Given the description of an element on the screen output the (x, y) to click on. 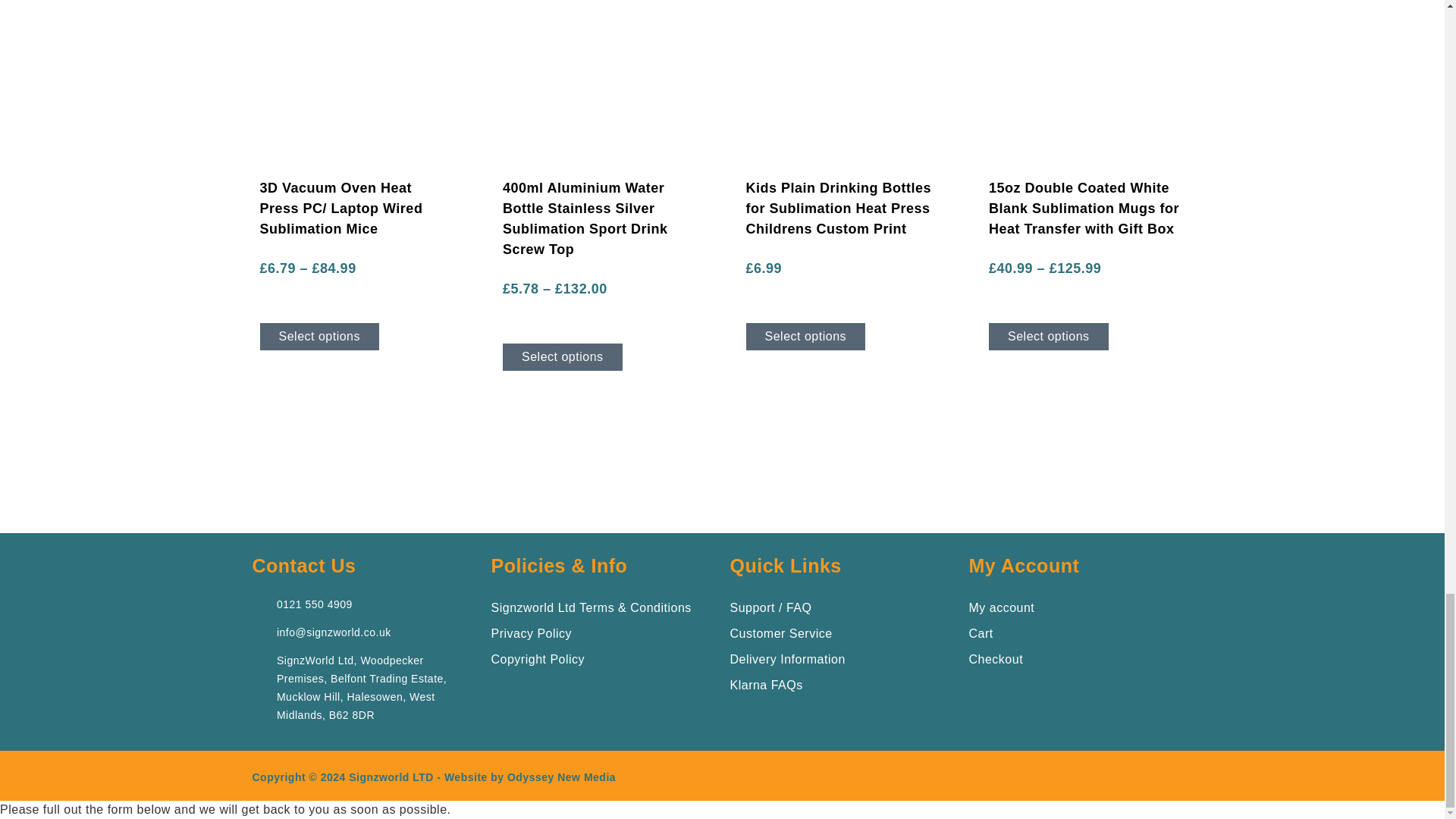
Website by Odyssey New Media (529, 776)
Call us today (314, 604)
Call us today (333, 632)
